Given the description of an element on the screen output the (x, y) to click on. 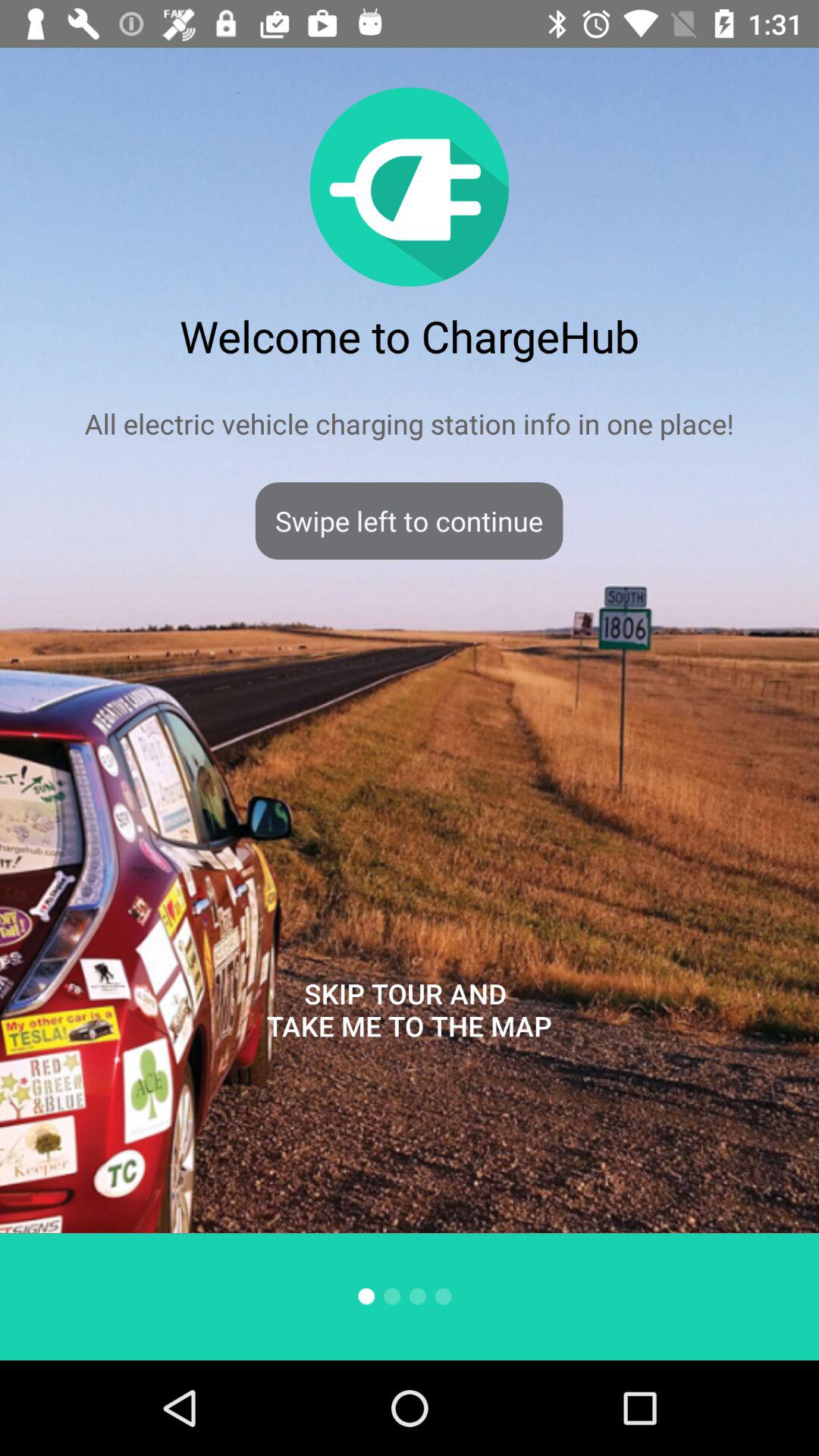
click skip tour and icon (408, 1009)
